Given the description of an element on the screen output the (x, y) to click on. 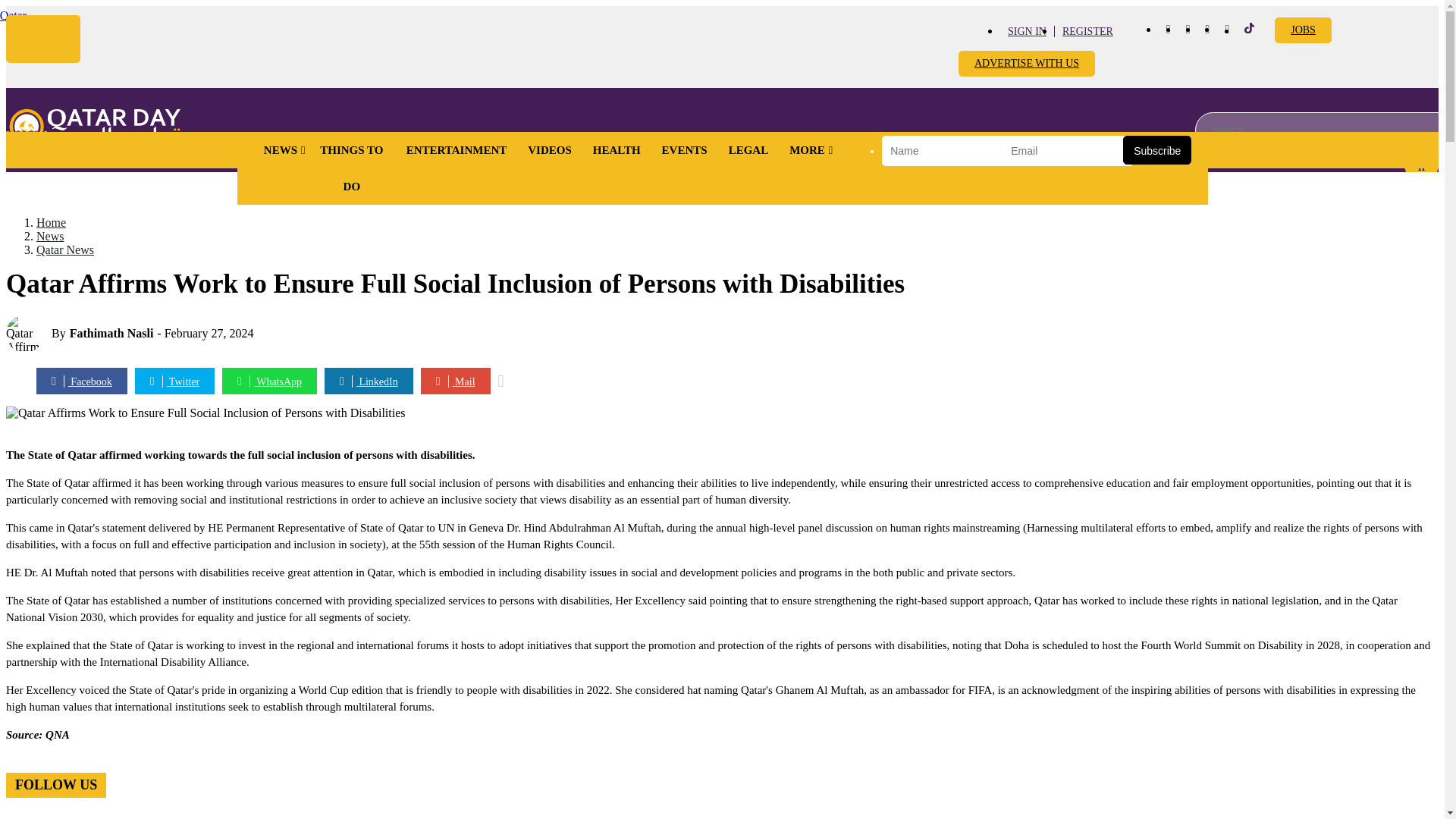
REGISTER (1087, 30)
Register (1087, 30)
VIDEOS (549, 149)
NEWS (280, 149)
Advertise (1026, 63)
SIGN IN (1027, 30)
EVENTS (683, 149)
Youtube (1207, 29)
Tiktok (1249, 30)
THINGS TO DO (351, 167)
